Given the description of an element on the screen output the (x, y) to click on. 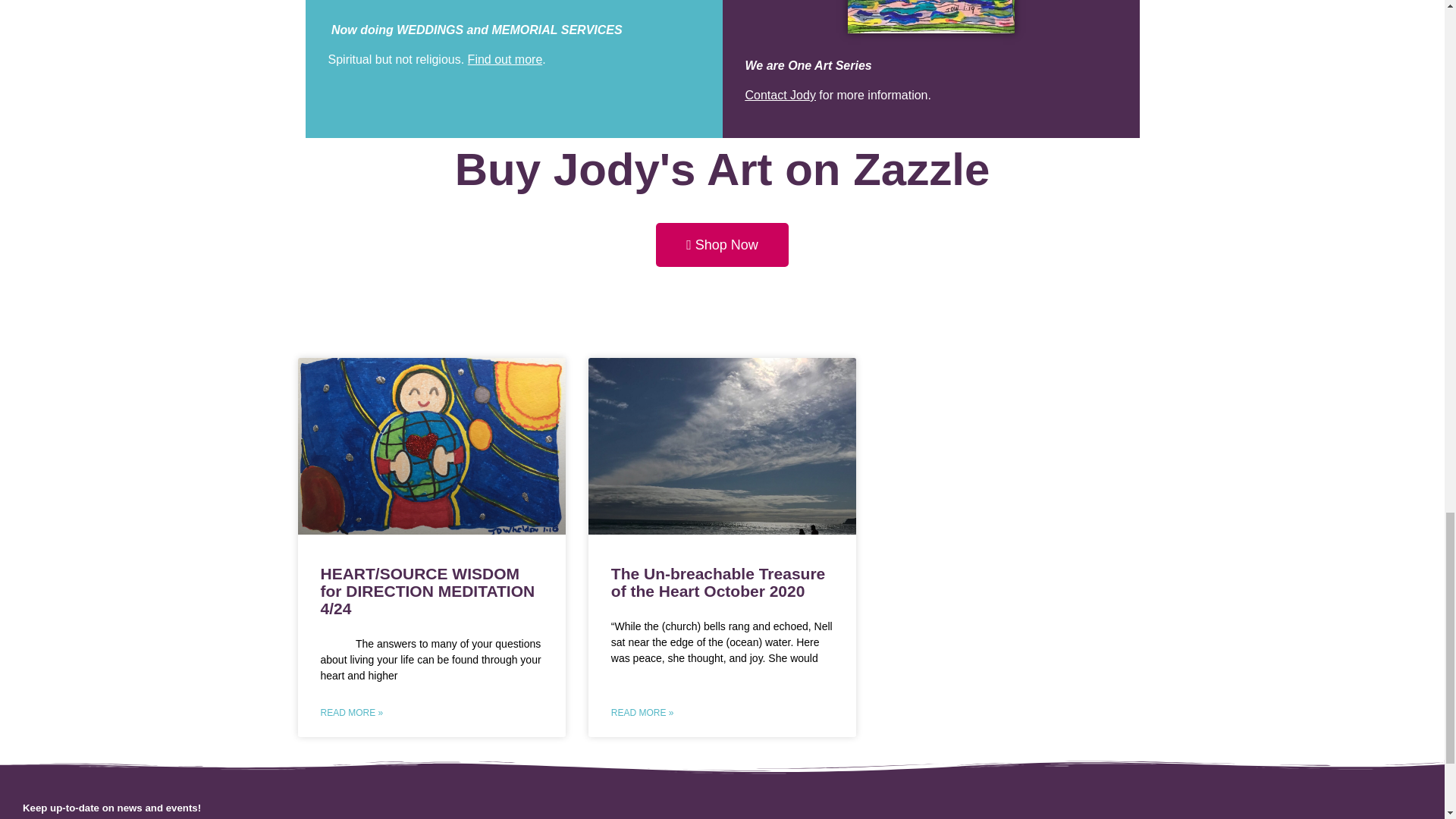
Find out more (505, 59)
Shop Now (722, 244)
Contact Jody (779, 94)
